Given the description of an element on the screen output the (x, y) to click on. 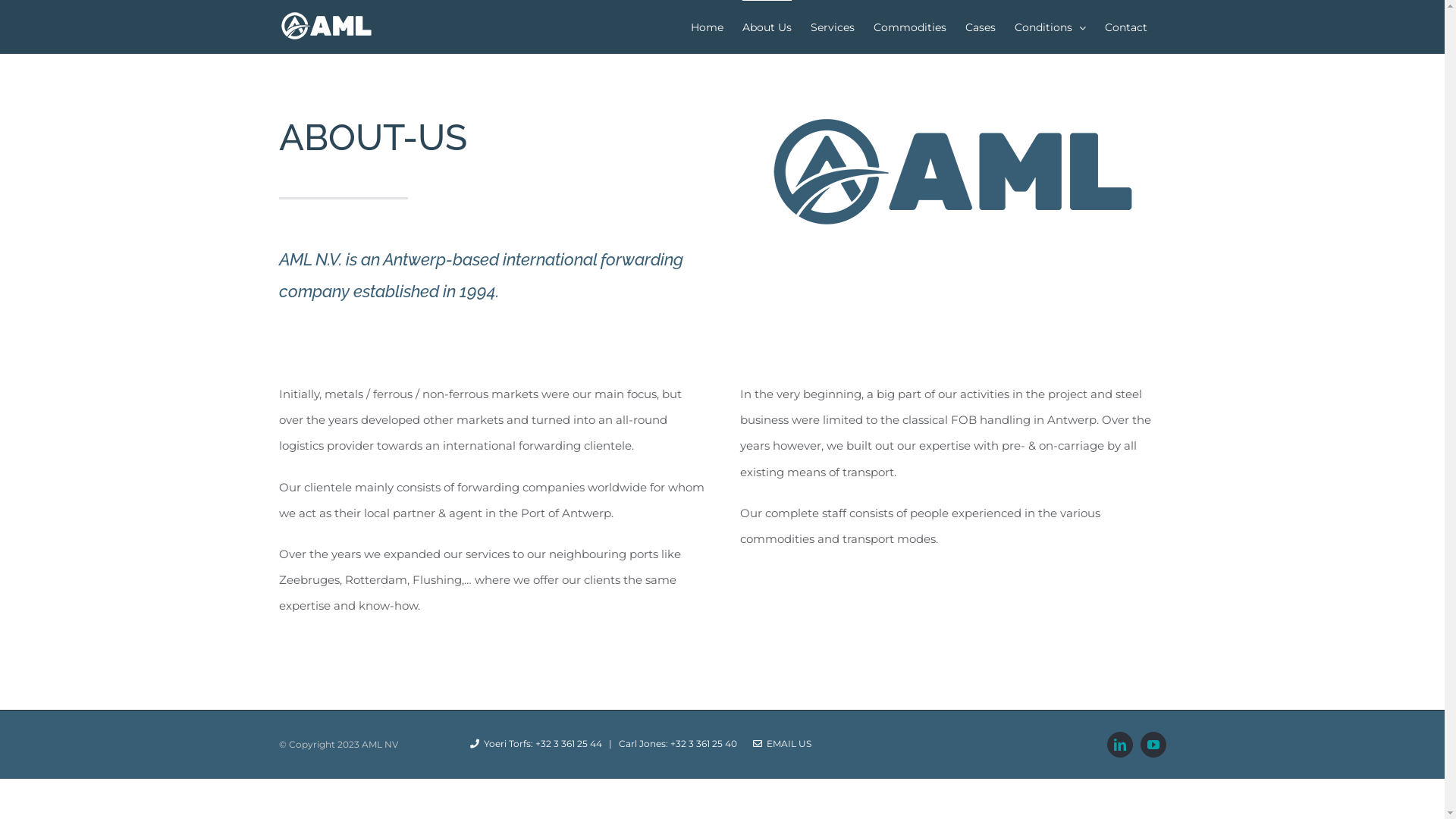
YouTube Element type: text (1153, 744)
Commodities Element type: text (909, 26)
LinkedIn Element type: text (1119, 744)
About Us Element type: text (765, 26)
Conditions Element type: text (1049, 26)
Home Element type: text (706, 26)
  EMAIL US Element type: text (781, 743)
Services Element type: text (831, 26)
logo_blue_500x150 Element type: hover (952, 171)
Contact Element type: text (1125, 26)
Cases Element type: text (979, 26)
